Given the description of an element on the screen output the (x, y) to click on. 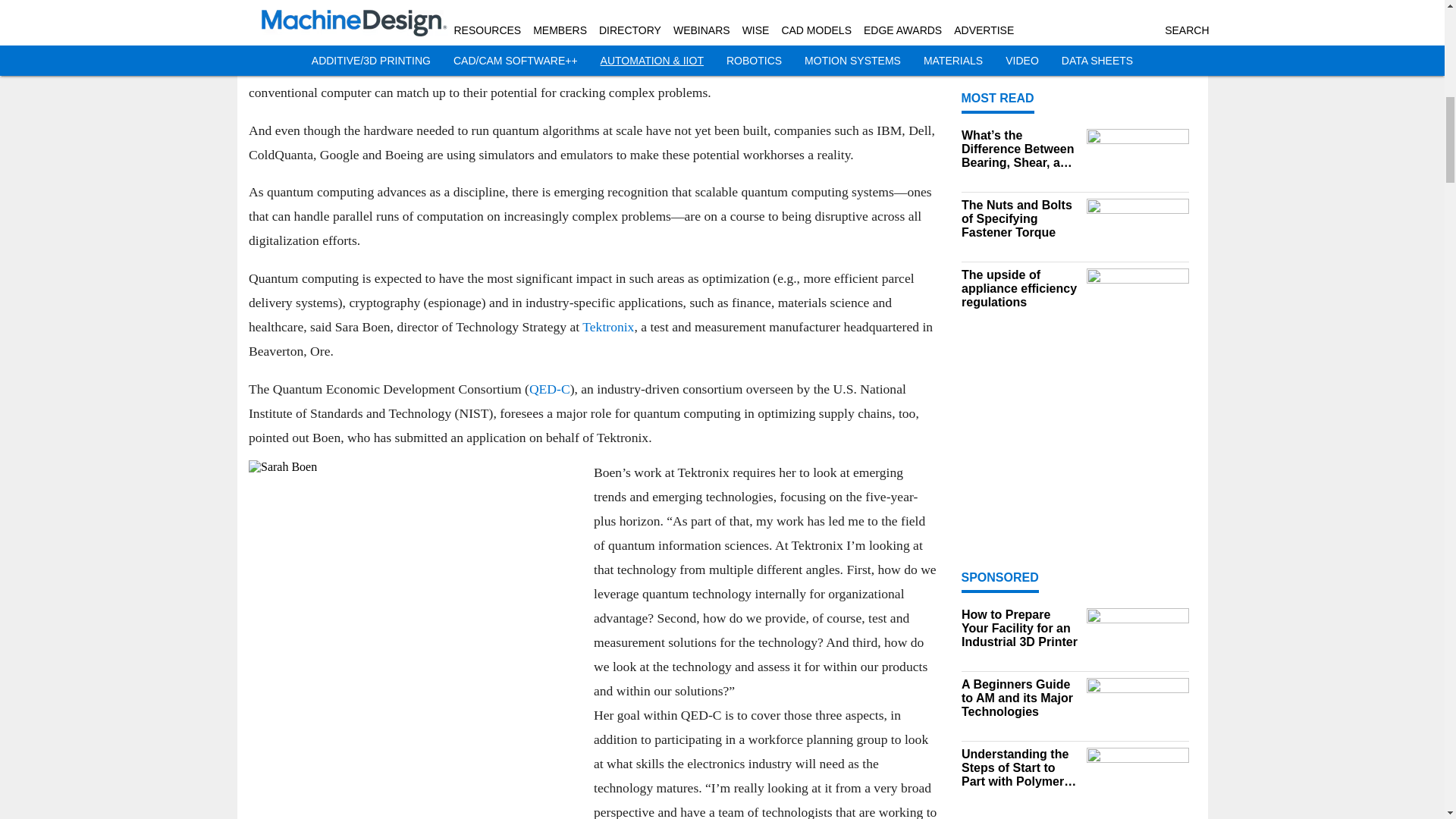
QED-C (548, 387)
Tektronix (607, 326)
Sarah Boen (414, 639)
